Given the description of an element on the screen output the (x, y) to click on. 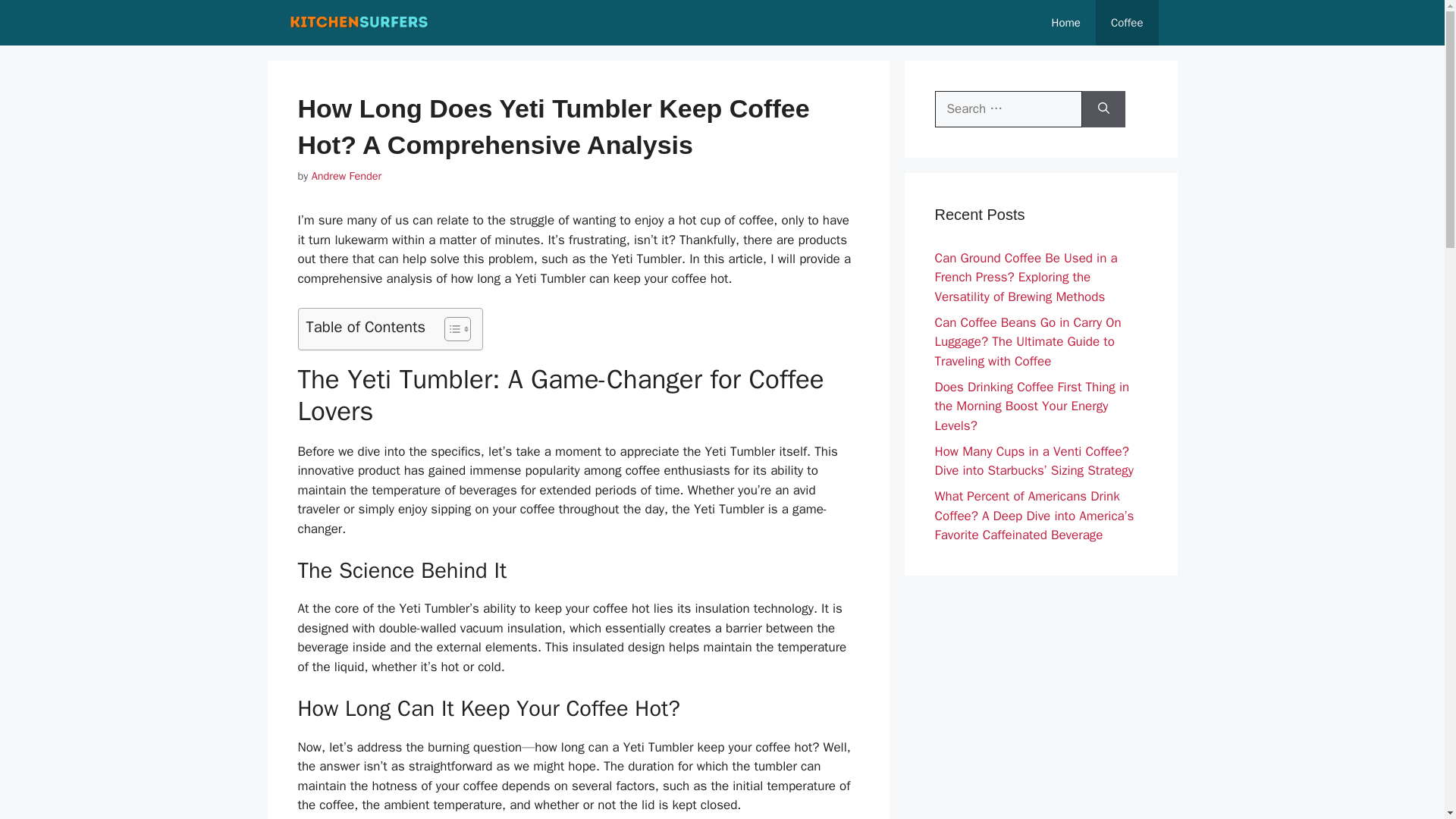
Andrew Fender (346, 175)
Coffee (1127, 22)
Home (1066, 22)
KitchenSurfers (359, 22)
Search for: (1007, 108)
View all posts by Andrew Fender (346, 175)
